Given the description of an element on the screen output the (x, y) to click on. 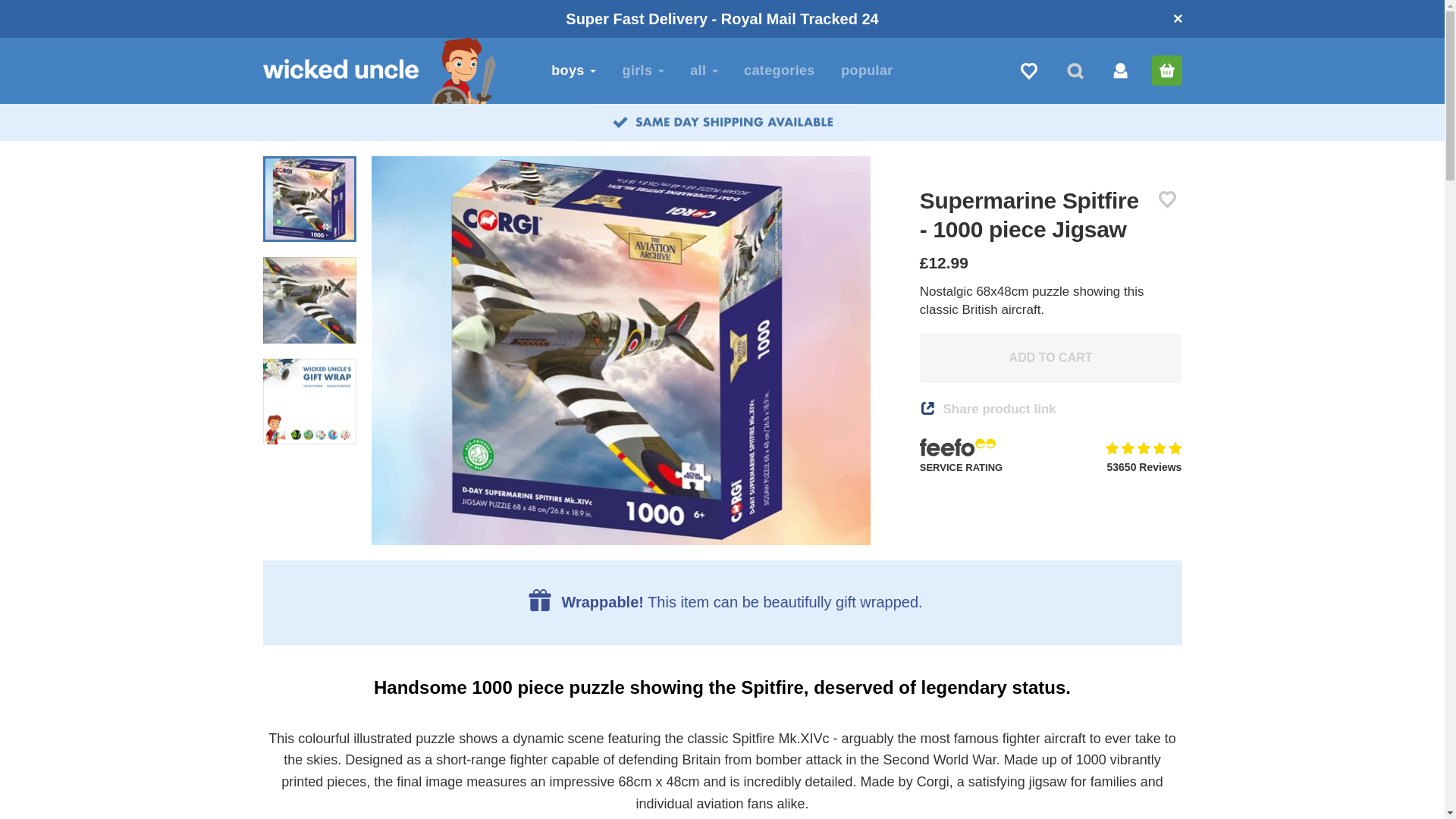
Add to your wishlist (1167, 199)
boys (573, 70)
girls (643, 70)
